Given the description of an element on the screen output the (x, y) to click on. 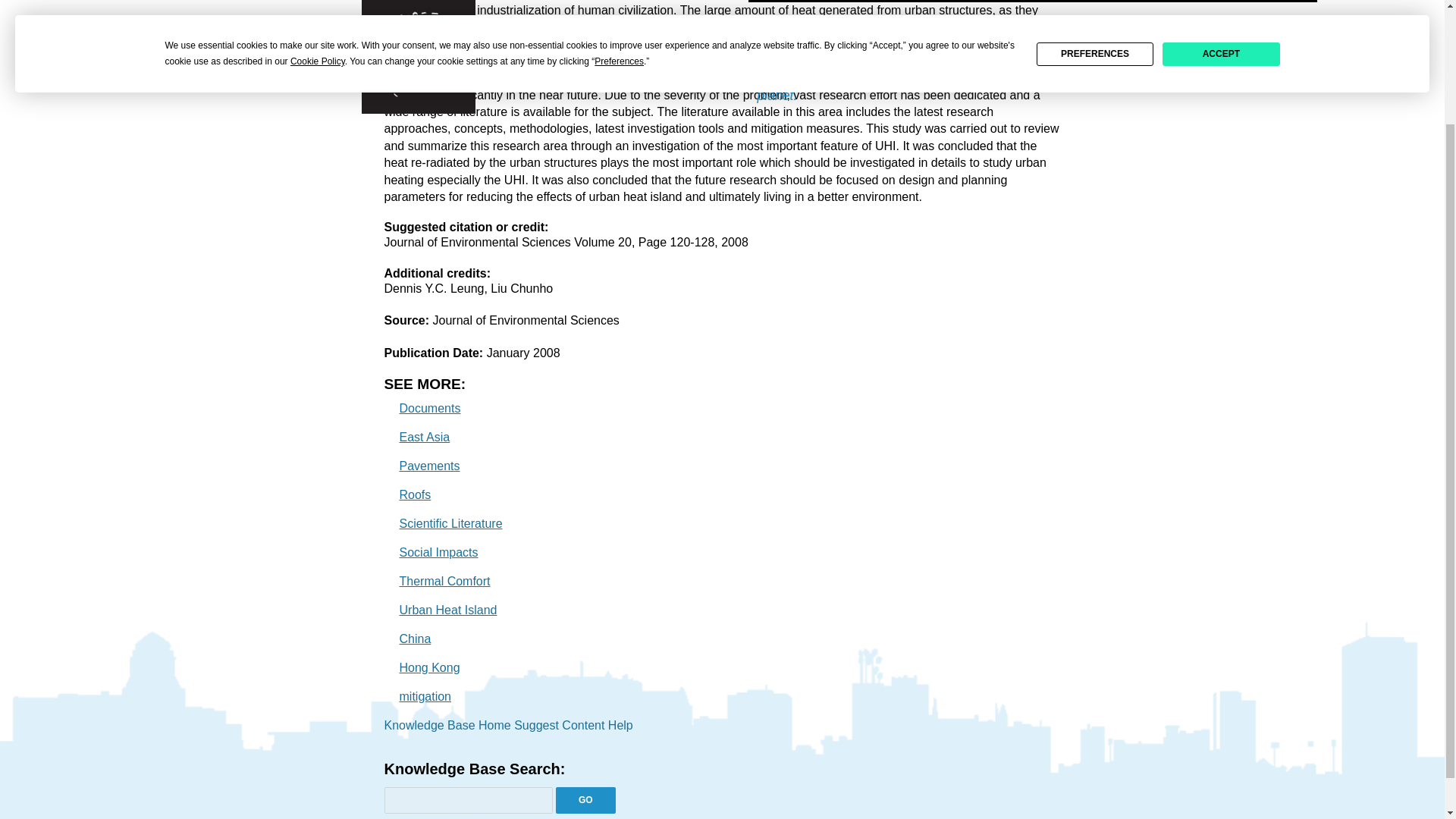
GO (585, 800)
Help (620, 725)
Hong Kong (429, 667)
Pavements (429, 465)
Suggest Content (558, 725)
Documents (429, 408)
GO (585, 800)
Roofs (414, 494)
China (414, 638)
Knowledge Base Home (447, 725)
East Asia (423, 436)
Social Impacts (437, 552)
Thermal Comfort (443, 581)
Scientific Literature (450, 522)
mitigation (423, 696)
